Given the description of an element on the screen output the (x, y) to click on. 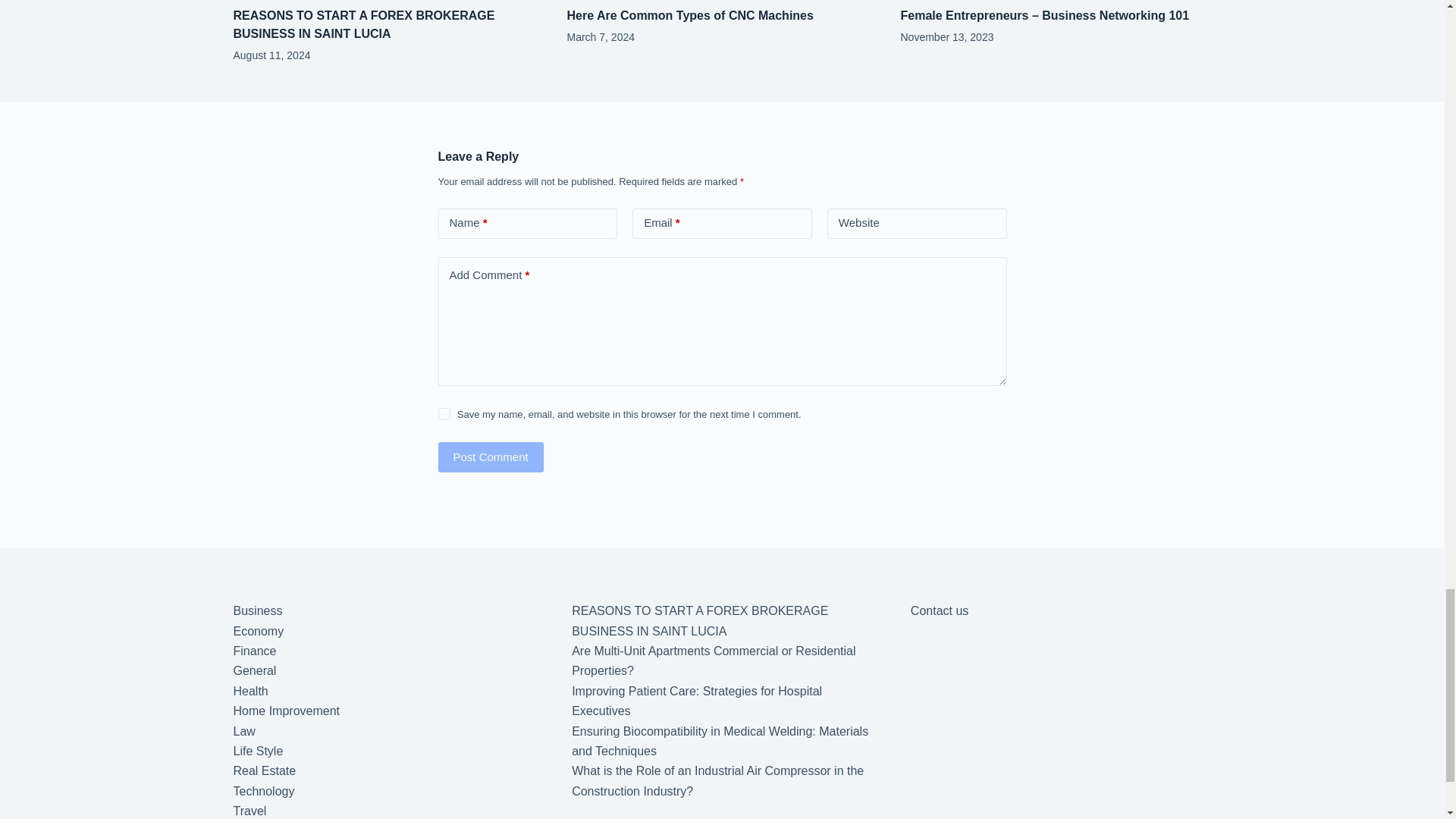
yes (443, 413)
General (254, 670)
Law (244, 730)
Home Improvement (286, 710)
Business (257, 610)
Post Comment (490, 457)
Here Are Common Types of CNC Machines (690, 15)
Economy (257, 631)
REASONS TO START A FOREX BROKERAGE BUSINESS IN SAINT LUCIA (363, 24)
Finance (254, 650)
